Given the description of an element on the screen output the (x, y) to click on. 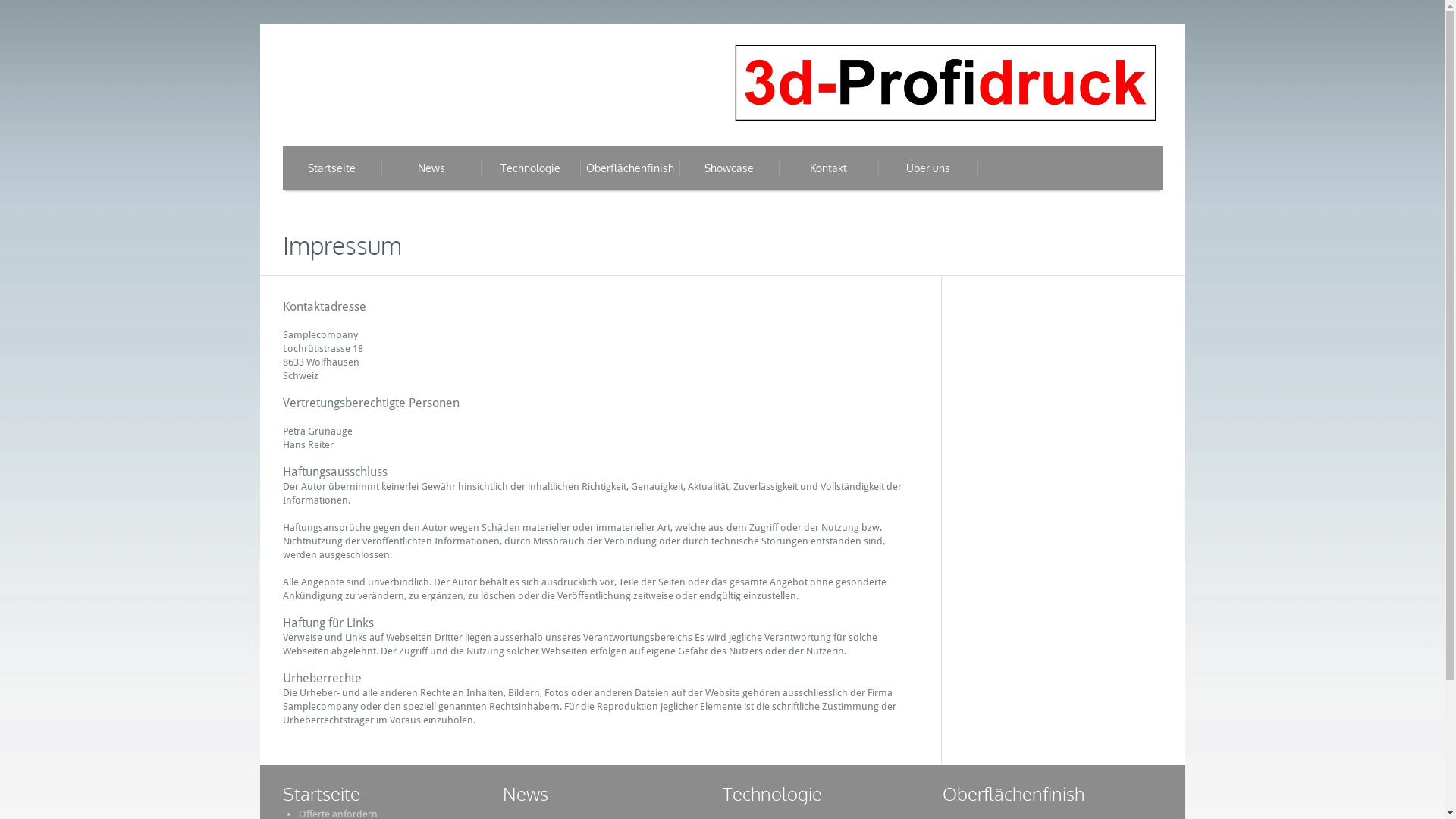
Technologie Element type: text (530, 167)
Technologie Element type: text (771, 793)
Kontakt Element type: text (828, 167)
News Element type: text (524, 793)
Showcase Element type: text (729, 167)
Startseite Element type: text (320, 793)
Startseite Element type: text (332, 167)
News Element type: text (430, 167)
